Given the description of an element on the screen output the (x, y) to click on. 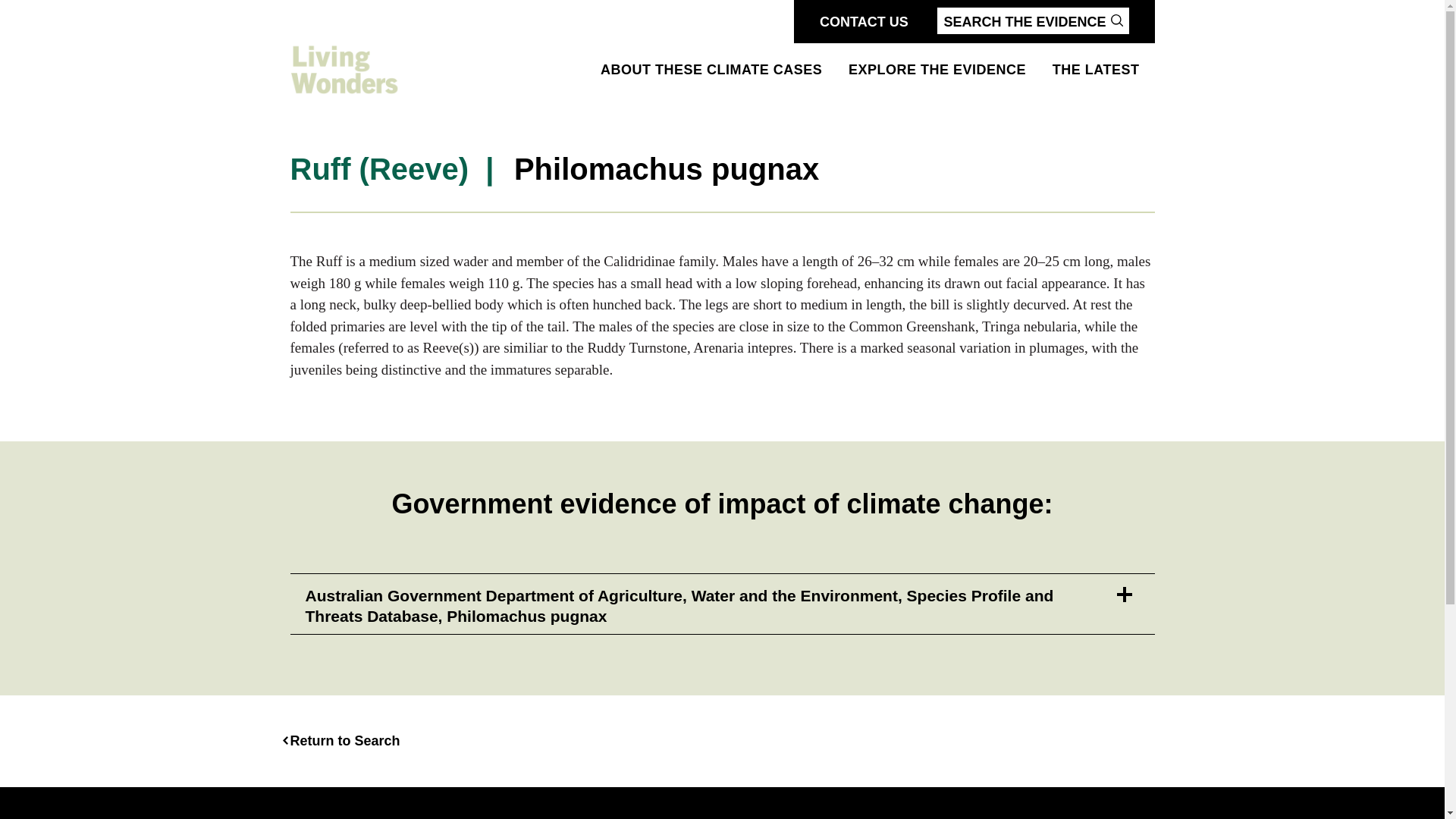
THE LATEST (1096, 69)
EXPLORE THE EVIDENCE (937, 69)
CONTACT US (863, 21)
SEARCH THE EVIDENCE (1032, 20)
Return to Search (343, 741)
ABOUT THESE CLIMATE CASES (710, 69)
